Given the description of an element on the screen output the (x, y) to click on. 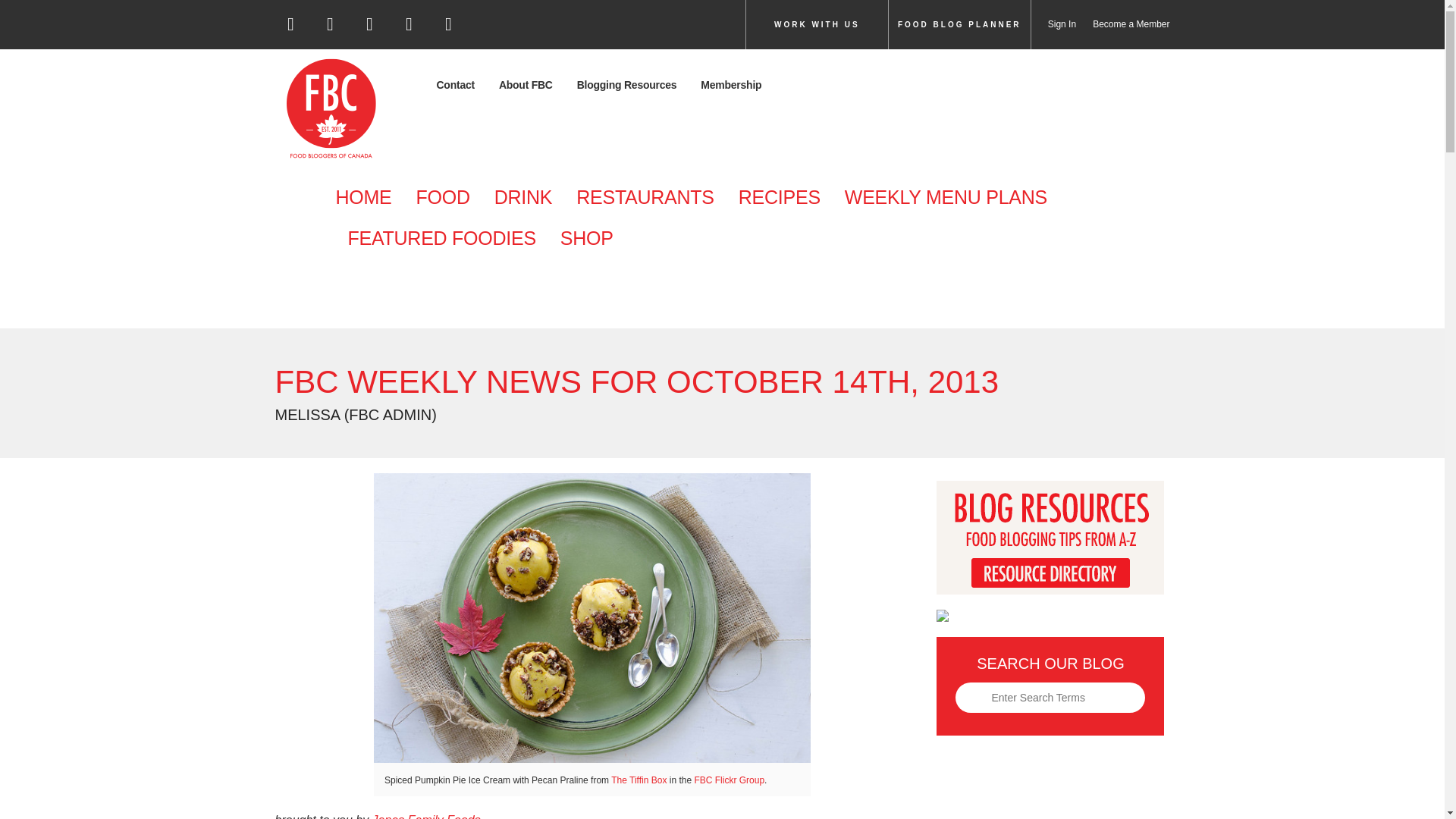
Blogging Resources (626, 84)
Contact (461, 84)
FOOD (442, 197)
Twitter (330, 28)
About FBC (525, 84)
FOOD BLOG PLANNER (959, 24)
YouTube (449, 28)
WORK WITH US (816, 24)
Facebook (291, 28)
Membership (730, 84)
